Given the description of an element on the screen output the (x, y) to click on. 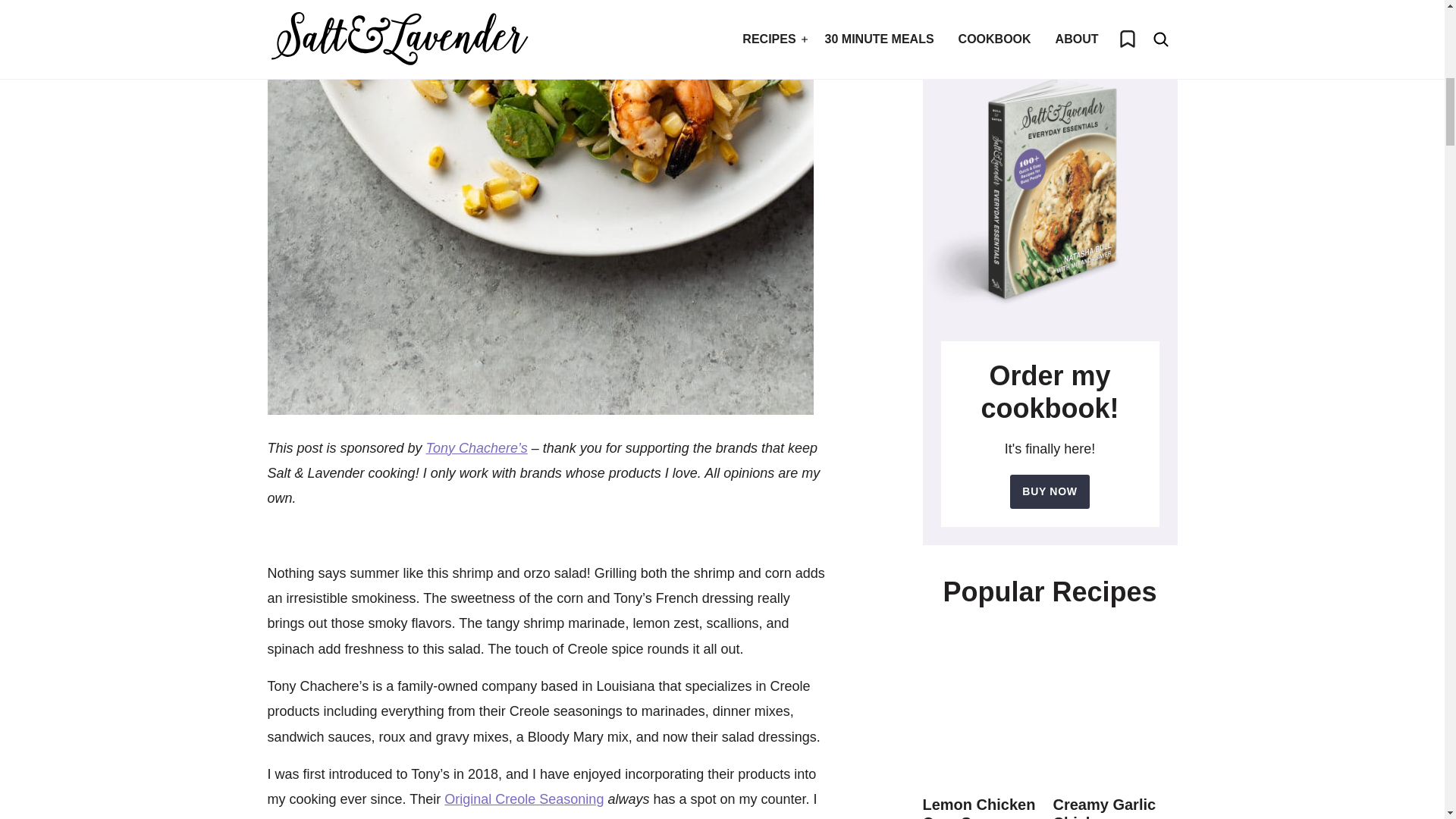
Original Creole Seasoning (524, 798)
